Given the description of an element on the screen output the (x, y) to click on. 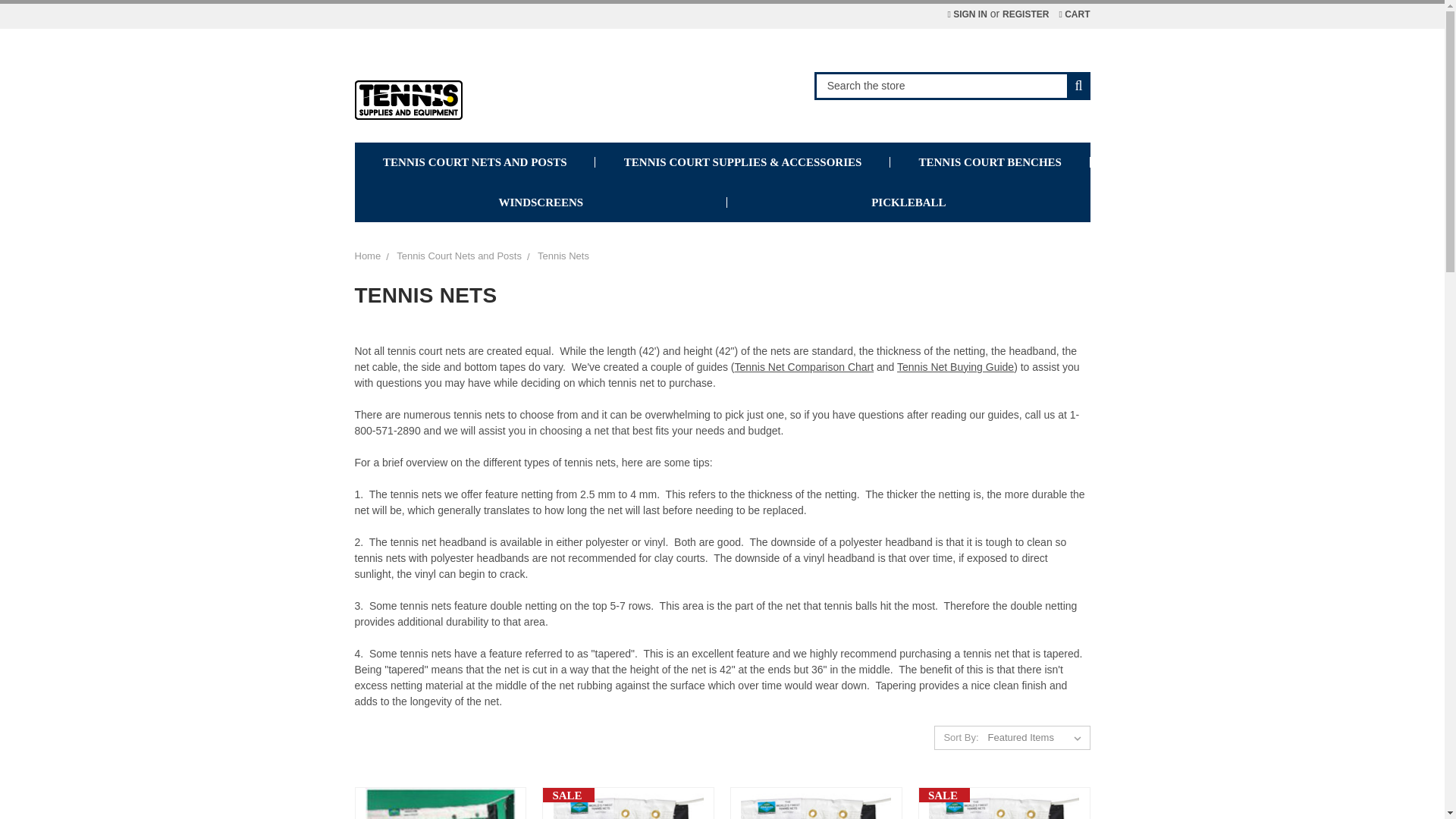
tennis net Edwards 30LS (440, 803)
WINDSCREENS (541, 201)
Home (368, 255)
Tennis Net Edwards Outback Double Center (1003, 803)
Tennis Court Nets and Posts (458, 255)
Tennis Net Comparison Chart (805, 367)
Tennis Supplies and Equipment (409, 101)
REGISTER (1025, 14)
CART (1074, 14)
Tennis Nets (563, 255)
